Given the description of an element on the screen output the (x, y) to click on. 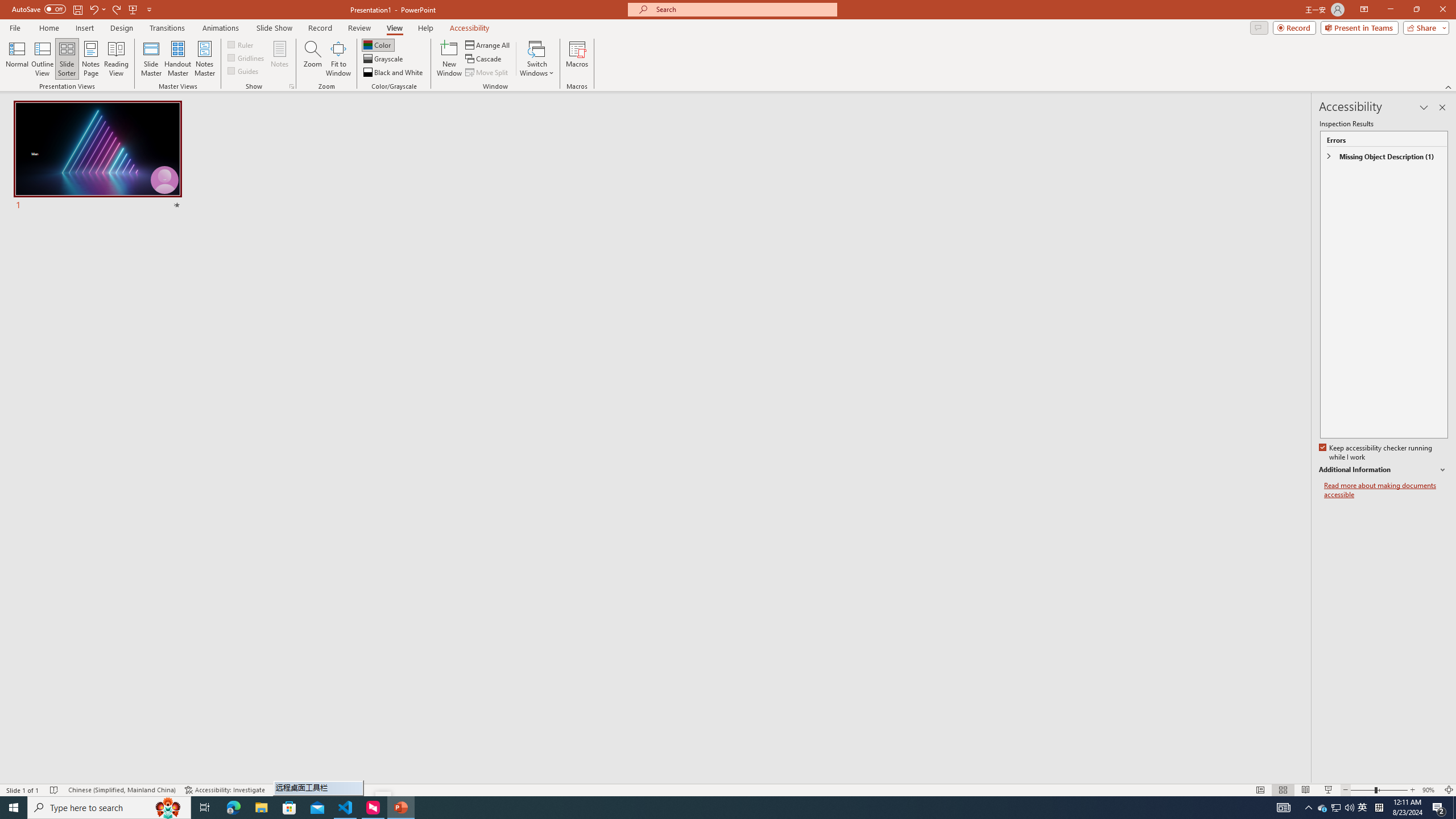
Macros (576, 58)
Zoom... (312, 58)
